Given the description of an element on the screen output the (x, y) to click on. 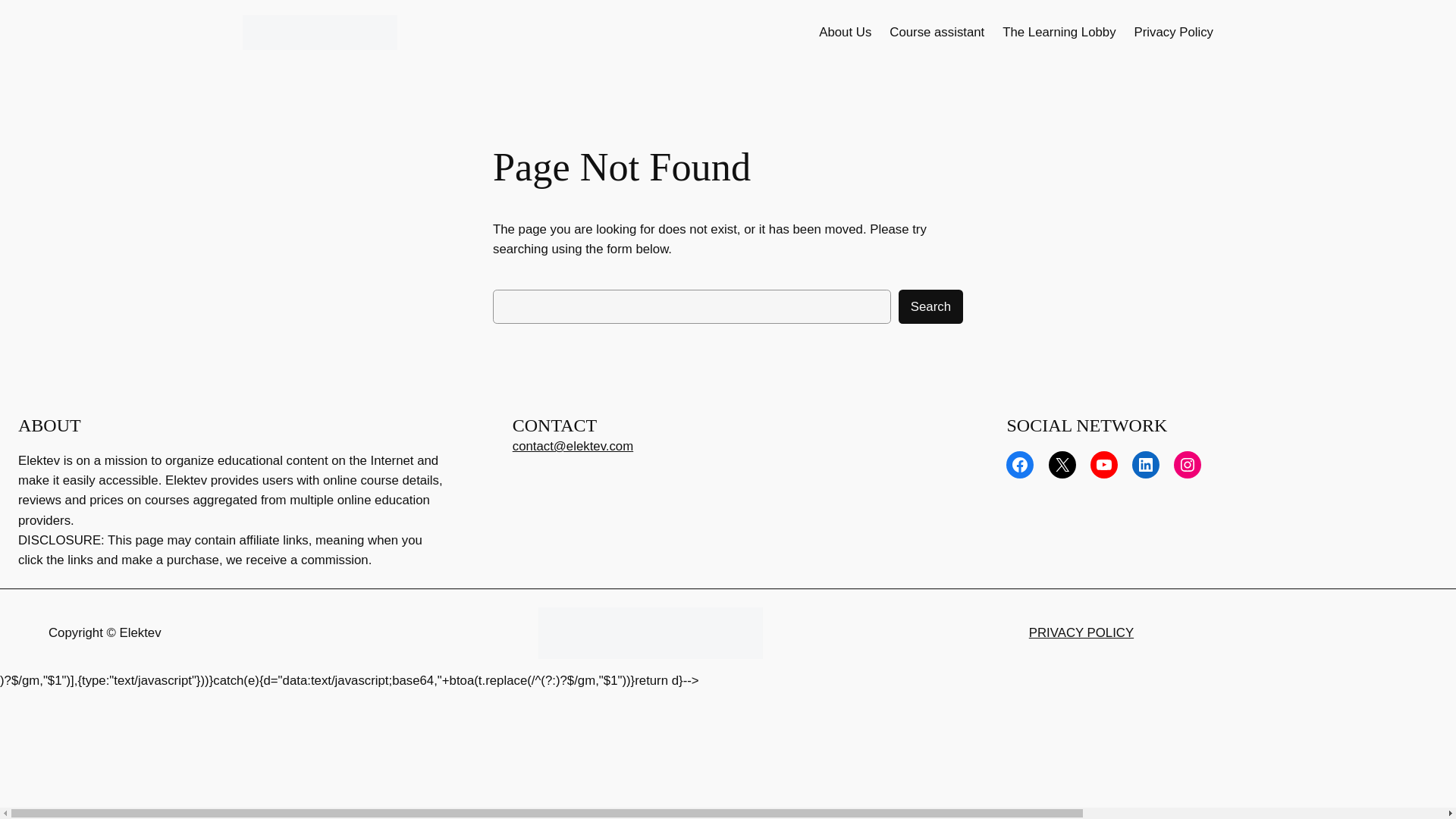
Instagram (1187, 464)
Course assistant (936, 32)
LinkedIn (1145, 464)
PRIVACY POLICY (1081, 632)
Facebook (1019, 464)
X (1061, 464)
YouTube (1104, 464)
About Us (844, 32)
The Learning Lobby (1059, 32)
Privacy Policy (1173, 32)
Search (930, 306)
